Given the description of an element on the screen output the (x, y) to click on. 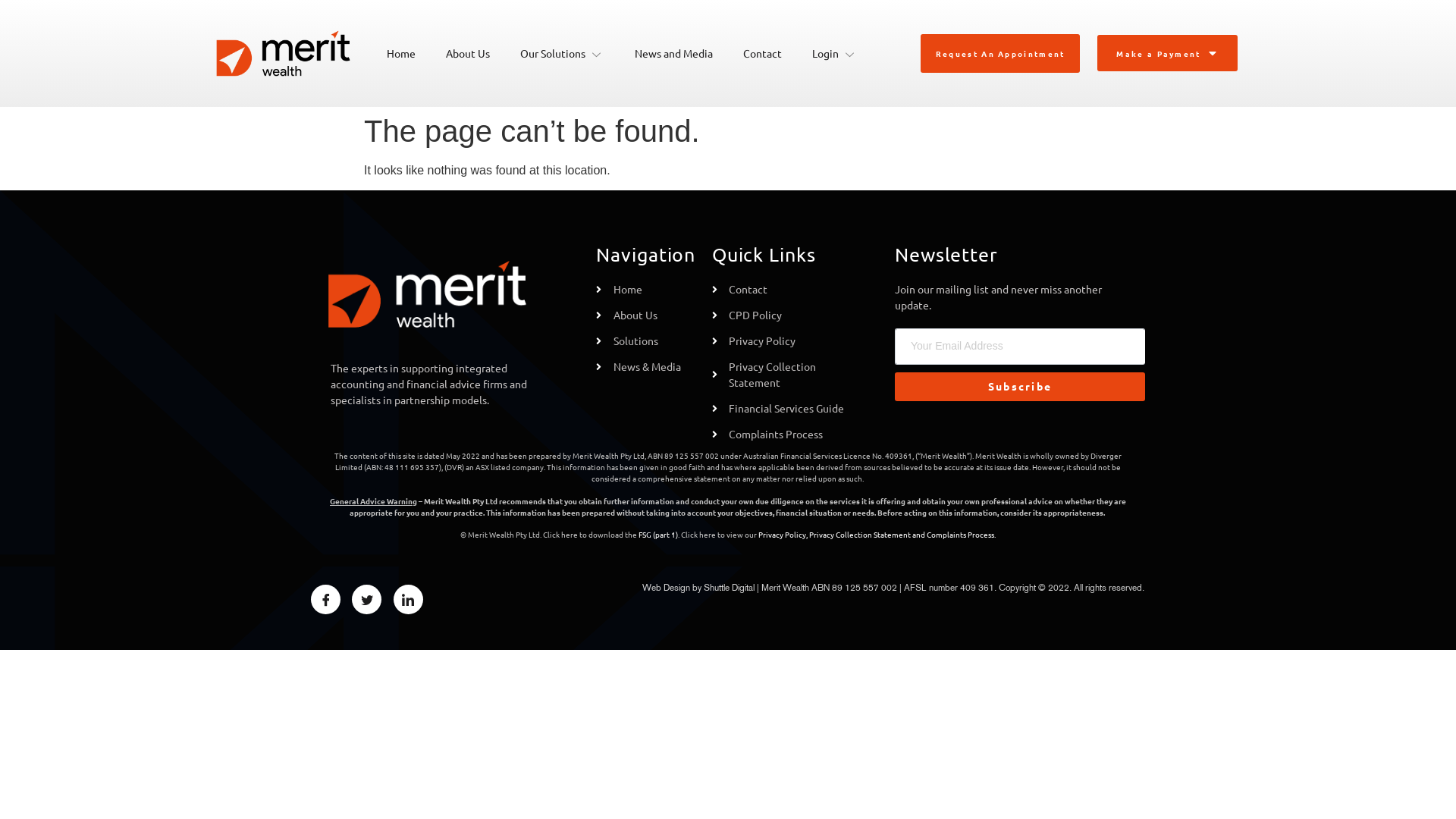
FSG (part 1) Element type: text (657, 533)
News and Media Element type: text (673, 52)
Contact Element type: text (784, 289)
Privacy Collection Statement Element type: text (784, 374)
Privacy Policy Element type: text (784, 340)
Home Element type: text (646, 289)
Solutions Element type: text (646, 340)
Home Element type: text (400, 52)
Shuttle Digital Element type: text (728, 587)
Complaints Process Element type: text (960, 533)
Our Solutions Element type: text (562, 52)
2022 MW logo-01 Element type: hover (282, 52)
Login Element type: text (834, 52)
CPD Policy Element type: text (784, 315)
Privacy Policy Element type: text (782, 533)
Request An Appointment Element type: text (1000, 53)
Complaints Process Element type: text (784, 434)
News & Media Element type: text (646, 366)
Privacy Collection Statement Element type: text (859, 533)
Financial Services Guide Element type: text (784, 408)
Subscribe Element type: text (1019, 386)
Contact Element type: text (762, 52)
About Us Element type: text (467, 52)
About Us Element type: text (646, 315)
Web Design Element type: text (666, 587)
Make a Payment Element type: text (1166, 52)
